Given the description of an element on the screen output the (x, y) to click on. 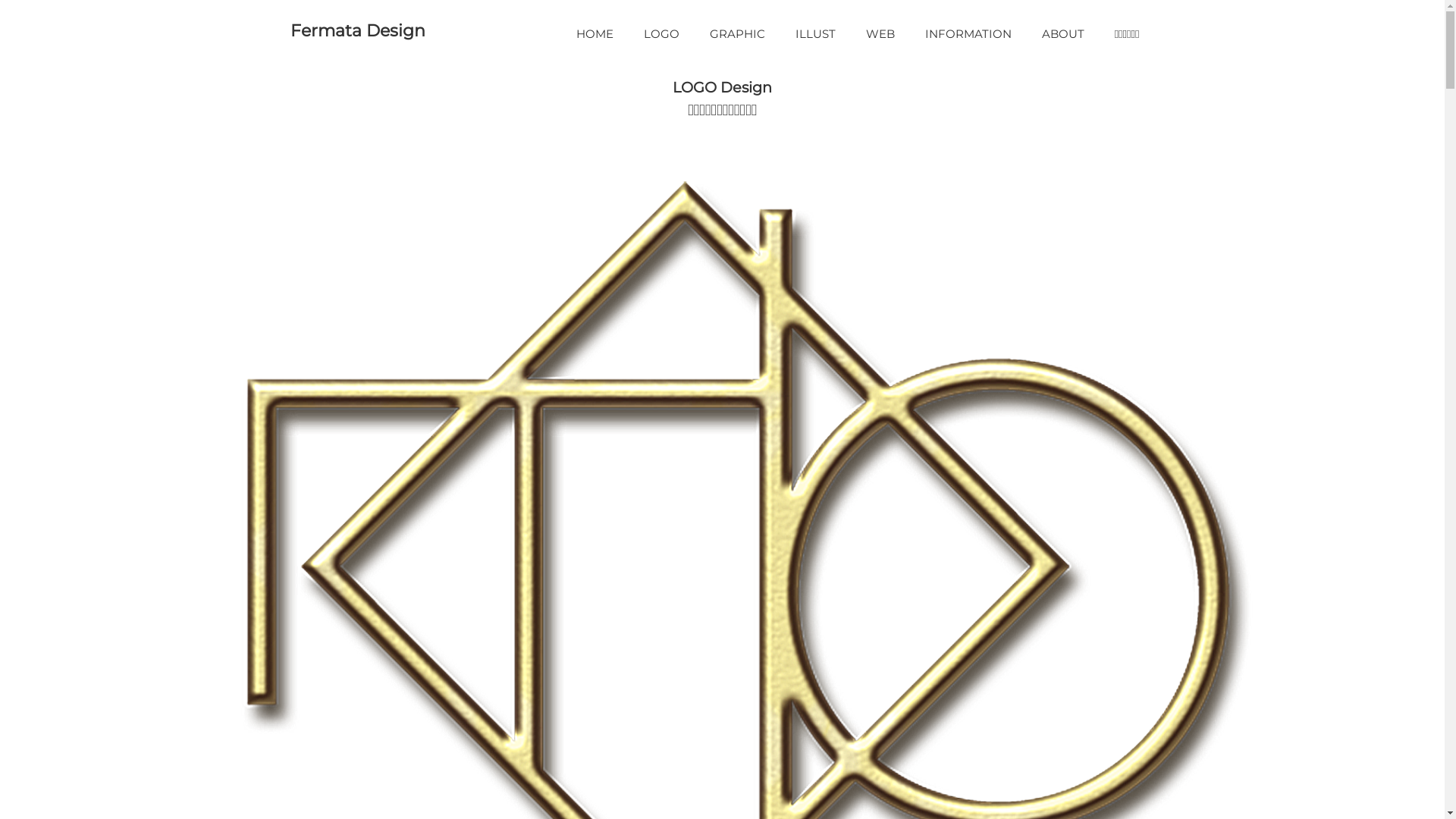
LOGO Element type: text (661, 33)
ILLUST Element type: text (815, 33)
INFORMATION Element type: text (968, 33)
GRAPHIC Element type: text (737, 33)
Fermata Design Element type: text (356, 30)
HOME Element type: text (594, 33)
ABOUT Element type: text (1062, 33)
WEB Element type: text (880, 33)
